Given the description of an element on the screen output the (x, y) to click on. 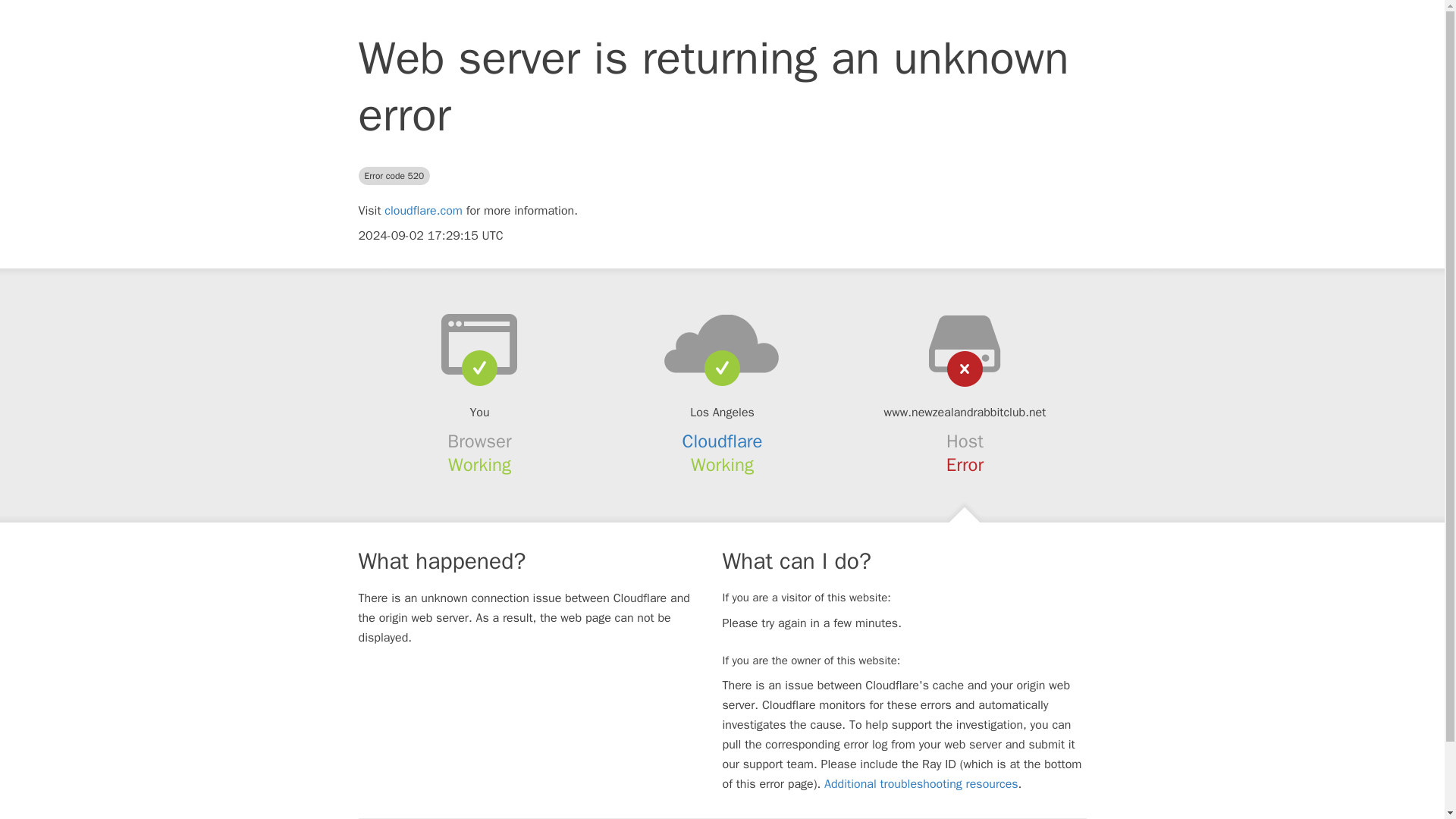
cloudflare.com (423, 210)
Cloudflare (722, 440)
Additional troubleshooting resources (920, 783)
